Given the description of an element on the screen output the (x, y) to click on. 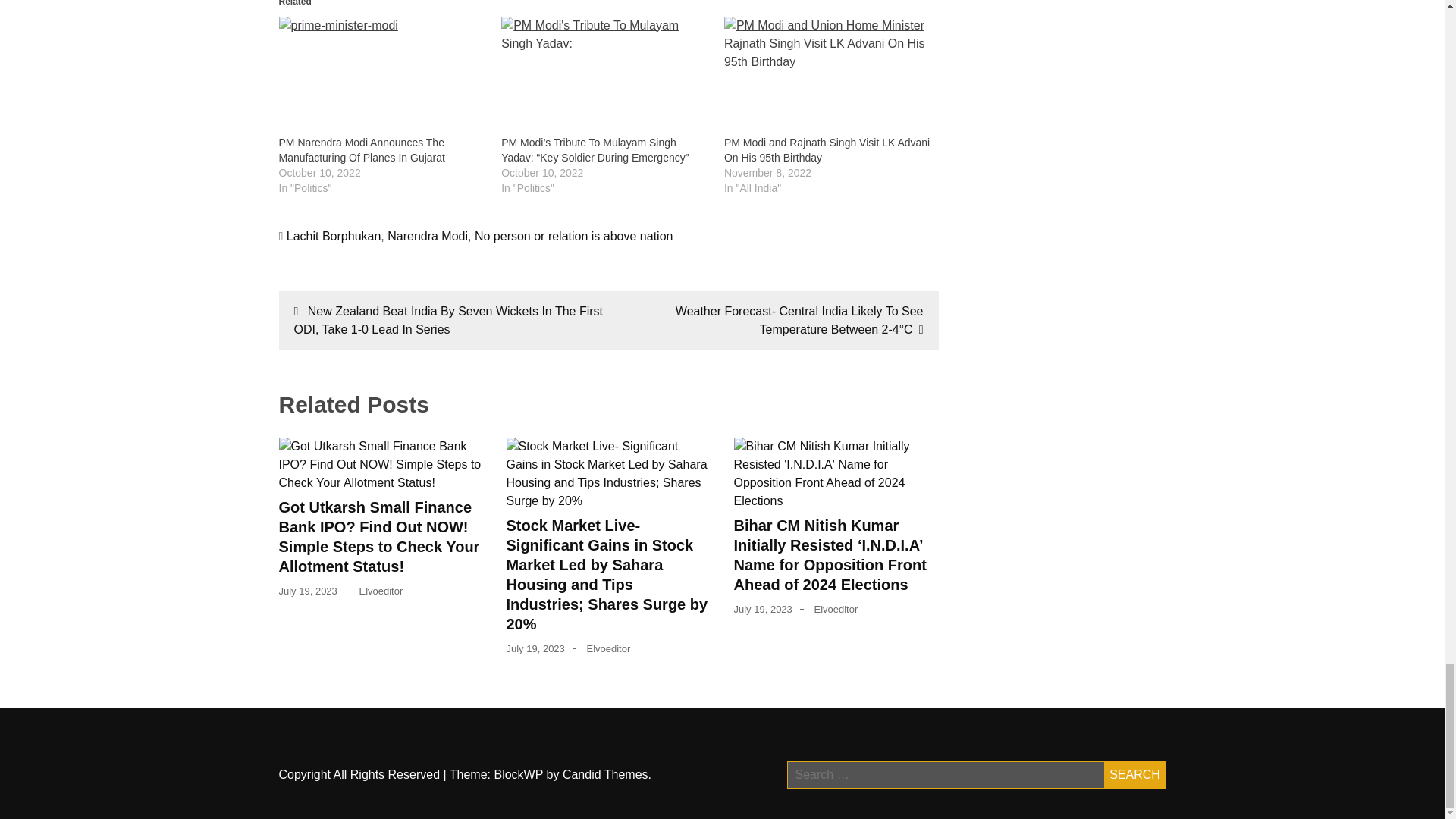
Search (1134, 774)
Search (1134, 774)
